Given the description of an element on the screen output the (x, y) to click on. 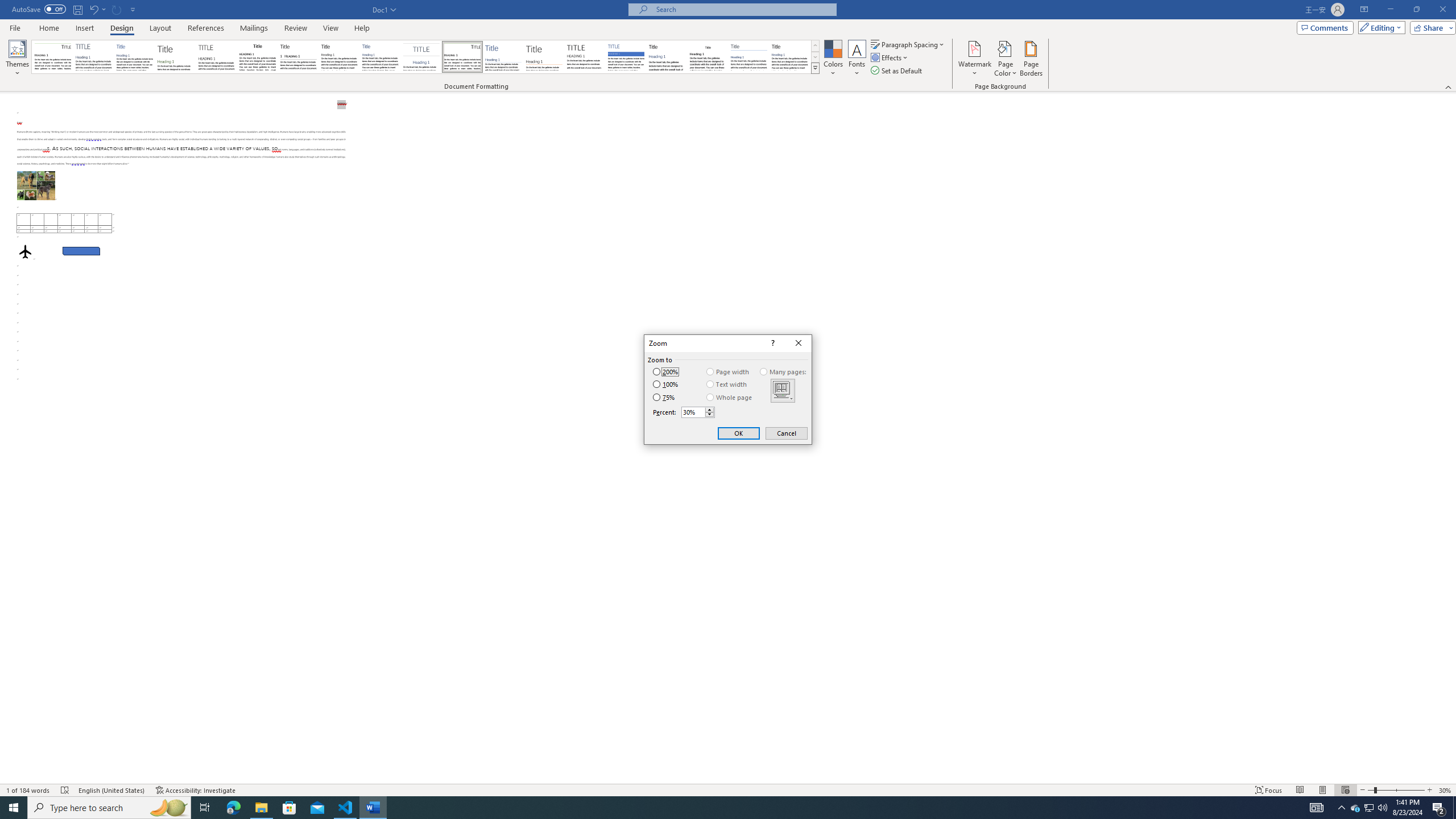
Watermark (974, 58)
Word 2013 (790, 56)
MSO Generic Control Container (782, 390)
Context help (771, 343)
200% (665, 371)
Microsoft Edge (233, 807)
Lines (Simple) (503, 56)
